Given the description of an element on the screen output the (x, y) to click on. 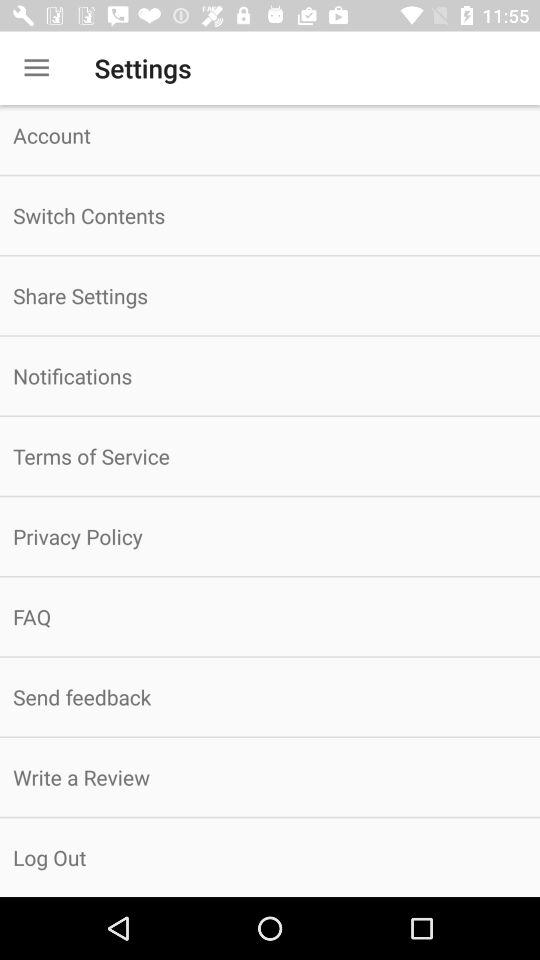
jump to the terms of service (270, 455)
